Given the description of an element on the screen output the (x, y) to click on. 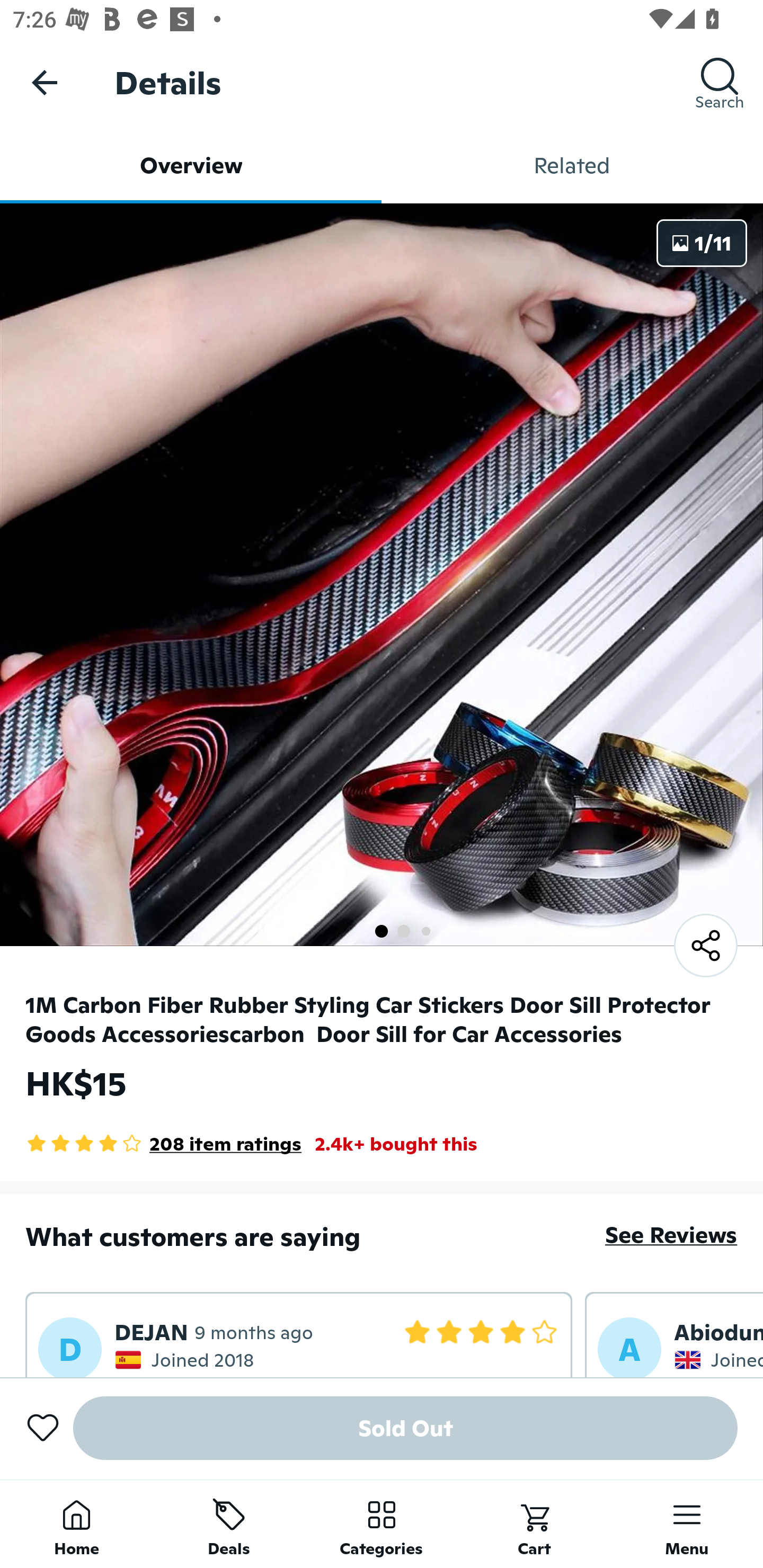
Navigate up (44, 82)
Search (719, 82)
Related (572, 165)
1/11 (701, 242)
4.2 Star Rating 208 item ratings (163, 1143)
See Reviews (671, 1234)
D DEJAN 9 months ago 4 Star Rating Joined 2018  (298, 1334)
D (69, 1346)
DEJAN (151, 1331)
A (629, 1346)
Abiodun (718, 1331)
Joined 2018  (186, 1359)
Joined 2017  (718, 1359)
Sold Out (405, 1428)
Home (76, 1523)
Deals (228, 1523)
Categories (381, 1523)
Cart (533, 1523)
Menu (686, 1523)
